Given the description of an element on the screen output the (x, y) to click on. 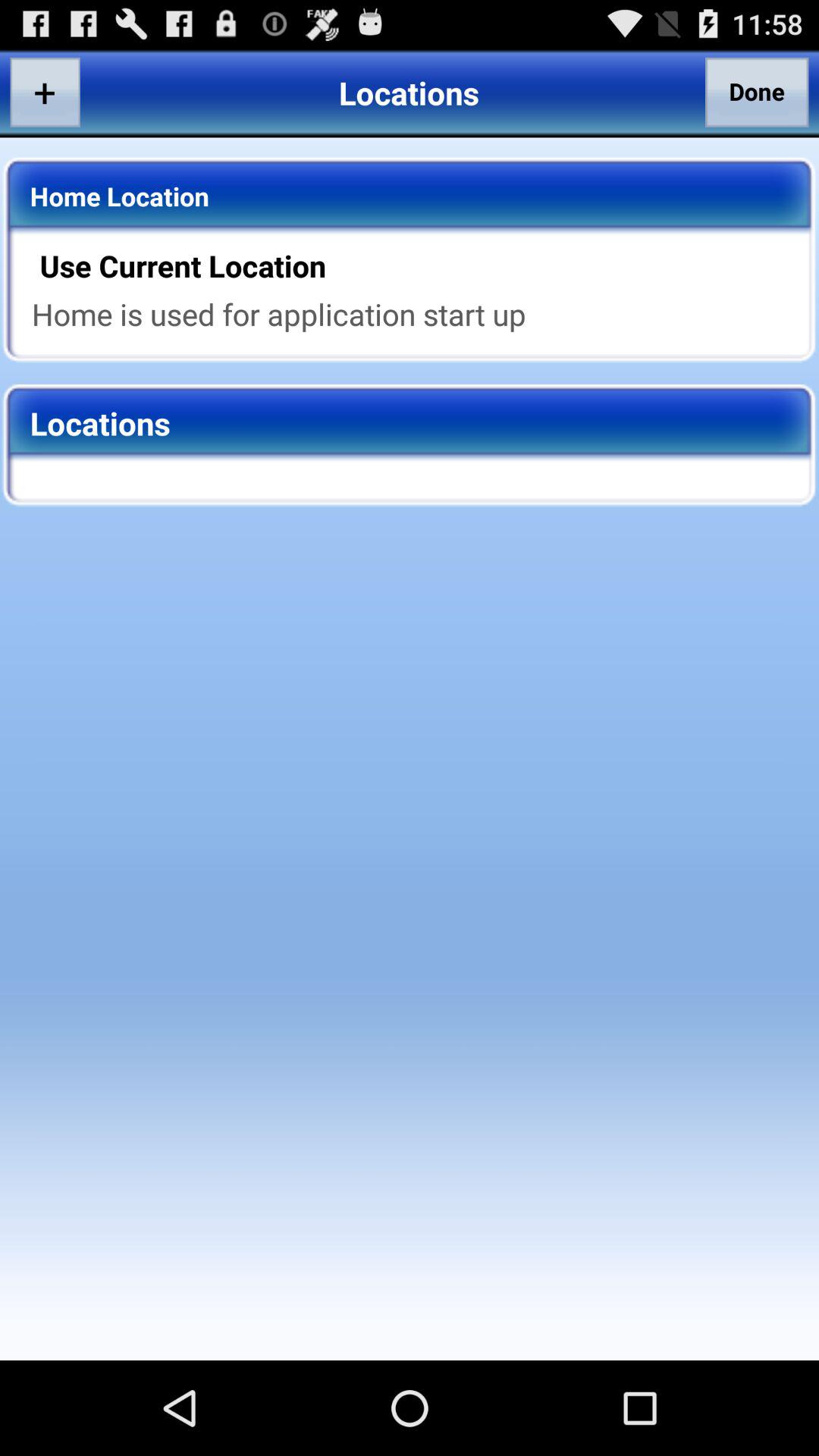
click the done button (756, 92)
